Given the description of an element on the screen output the (x, y) to click on. 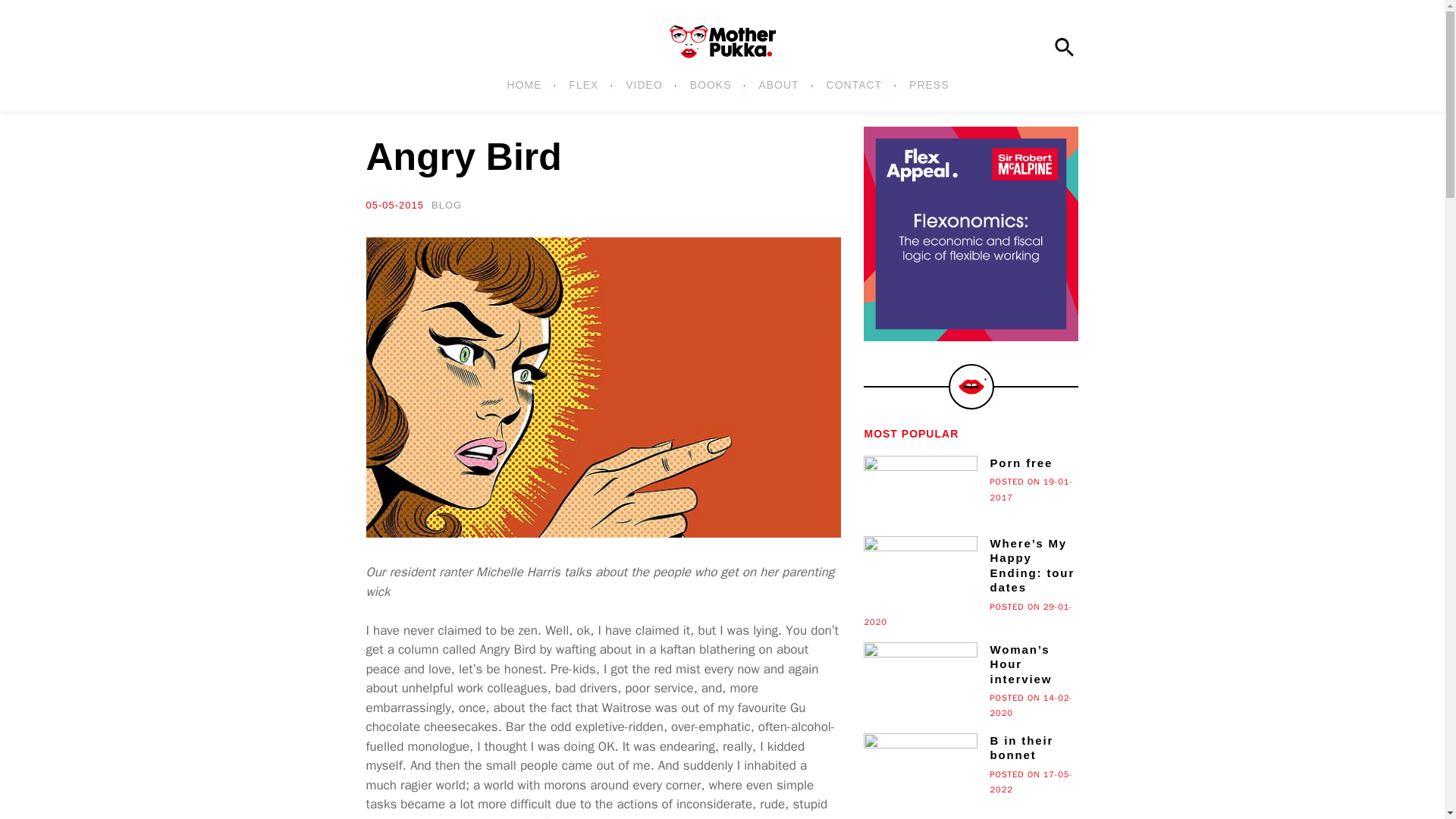
Flexonomics.gif (970, 233)
BOOKS (712, 85)
Porn free (970, 465)
CONTACT (856, 85)
B in their bonnet (970, 749)
PRESS (923, 85)
ABOUT (779, 85)
VIDEO (645, 85)
FLEX (584, 85)
HOME (525, 85)
